Given the description of an element on the screen output the (x, y) to click on. 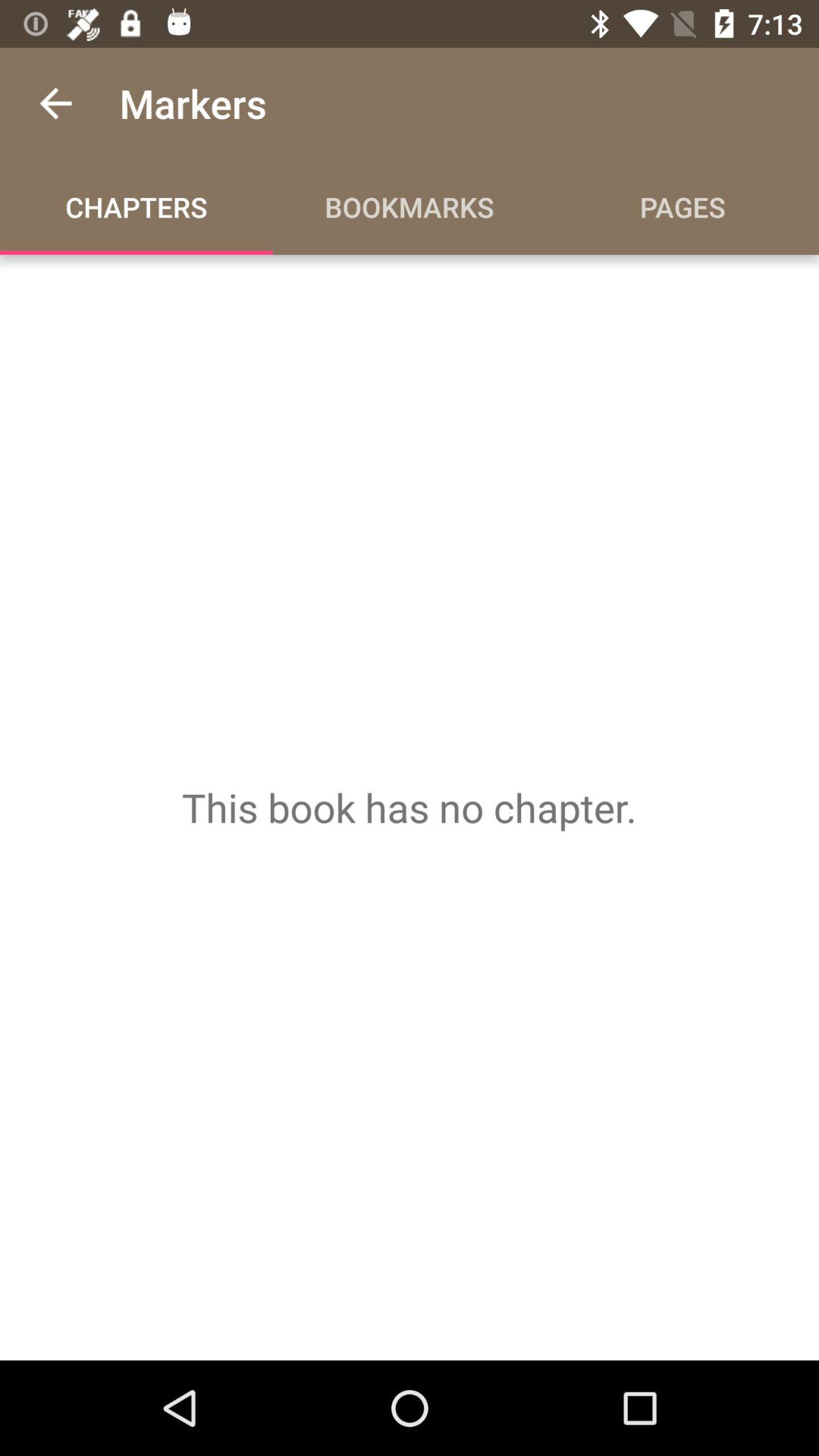
press the icon next to the markers (55, 103)
